Given the description of an element on the screen output the (x, y) to click on. 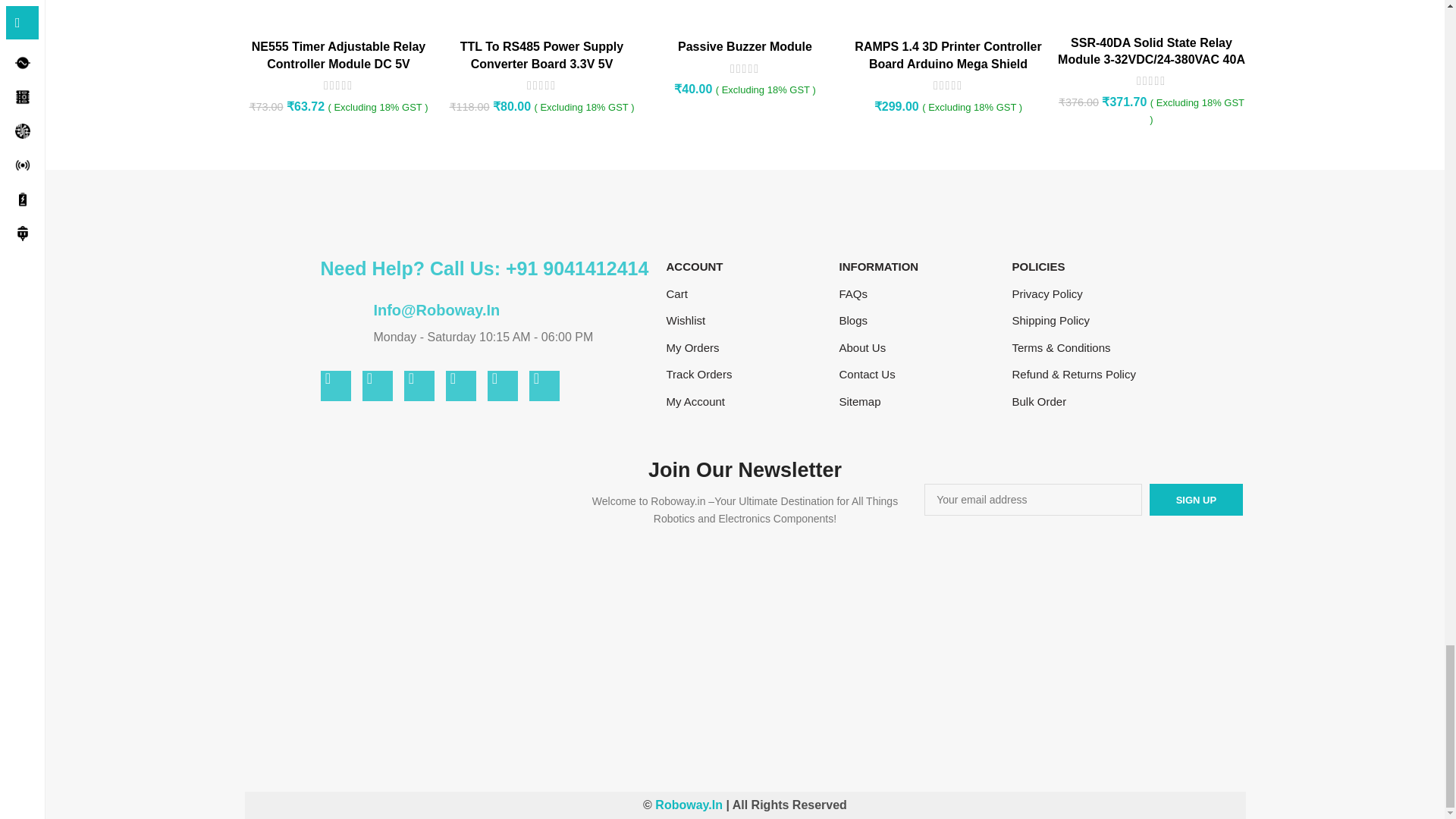
Sign up (1196, 499)
